Given the description of an element on the screen output the (x, y) to click on. 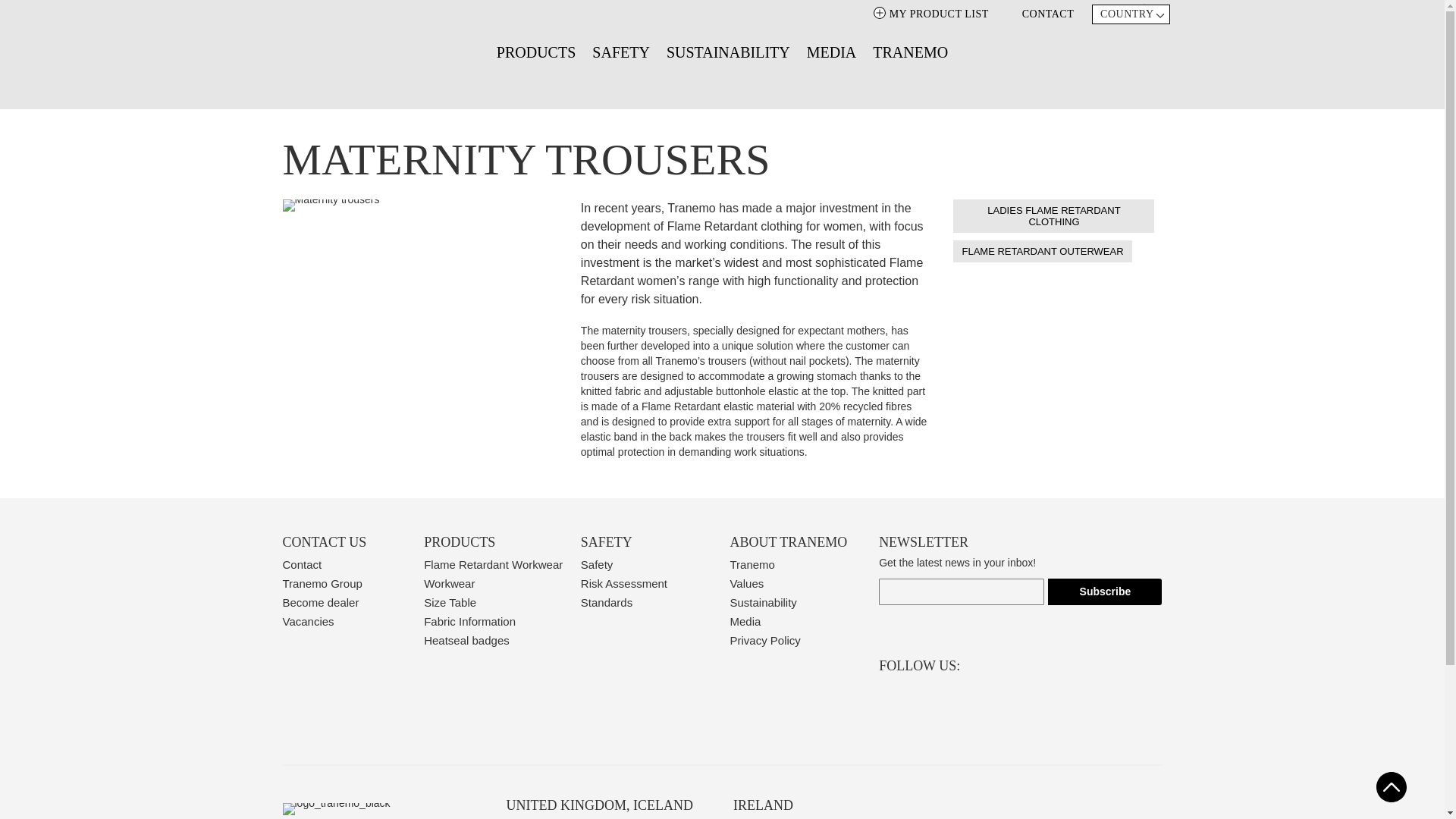
CONTACT (1040, 12)
COUNTRY (1130, 14)
PRODUCTS (535, 52)
MY PRODUCT LIST (928, 13)
